Given the description of an element on the screen output the (x, y) to click on. 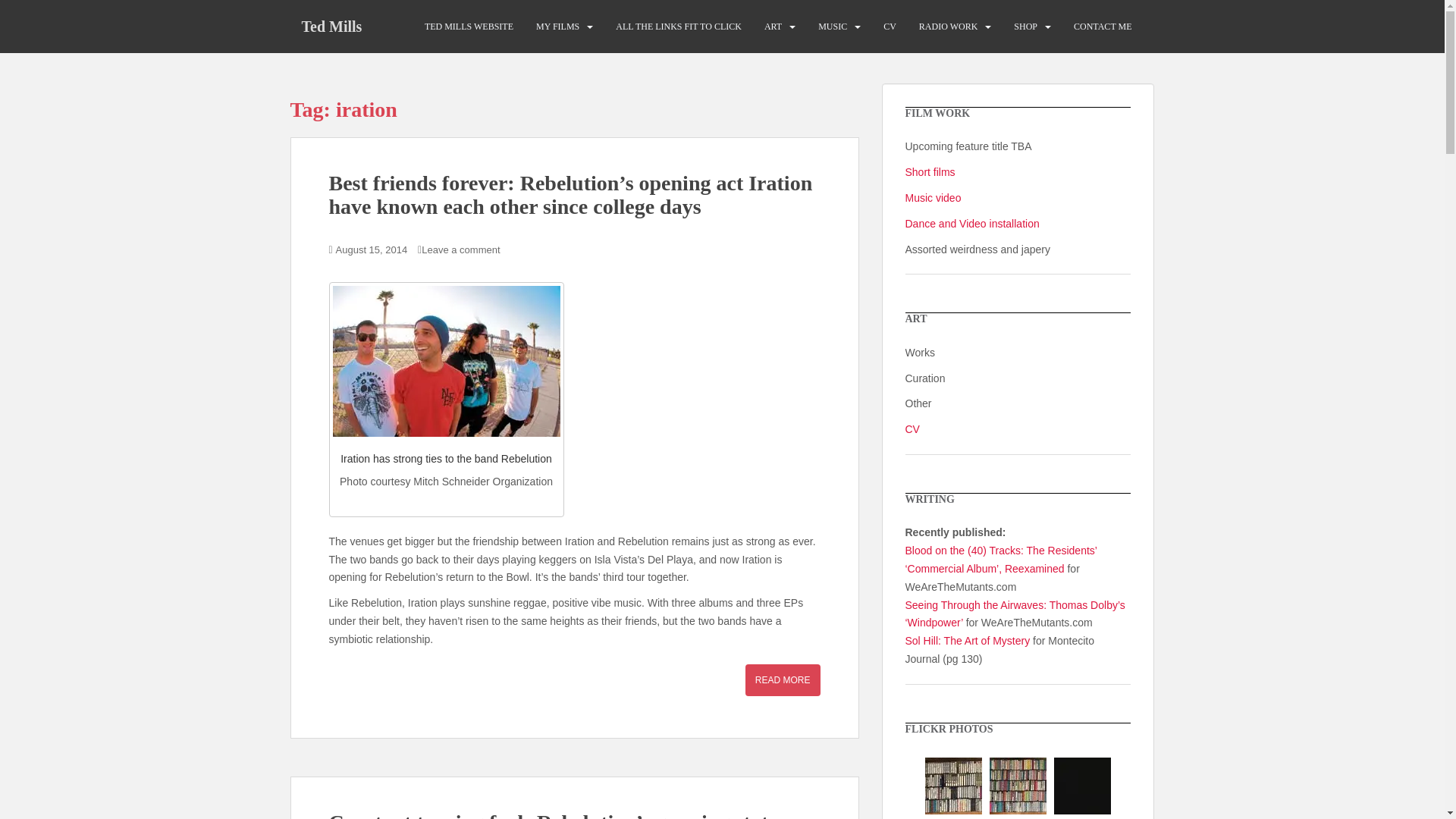
Cassettes (952, 785)
MY FILMS (557, 26)
RADIO WORK (947, 26)
CONTACT ME (1103, 26)
READ MORE (783, 680)
Ted Mills (330, 26)
August 15, 2014 (371, 249)
Palm Springs Day 2 08.19 (1082, 785)
Leave a comment (460, 249)
MUSIC (832, 26)
TED MILLS WEBSITE (469, 26)
Ted Mills (330, 26)
ALL THE LINKS FIT TO CLICK (678, 26)
Cassettes (1018, 785)
